Given the description of an element on the screen output the (x, y) to click on. 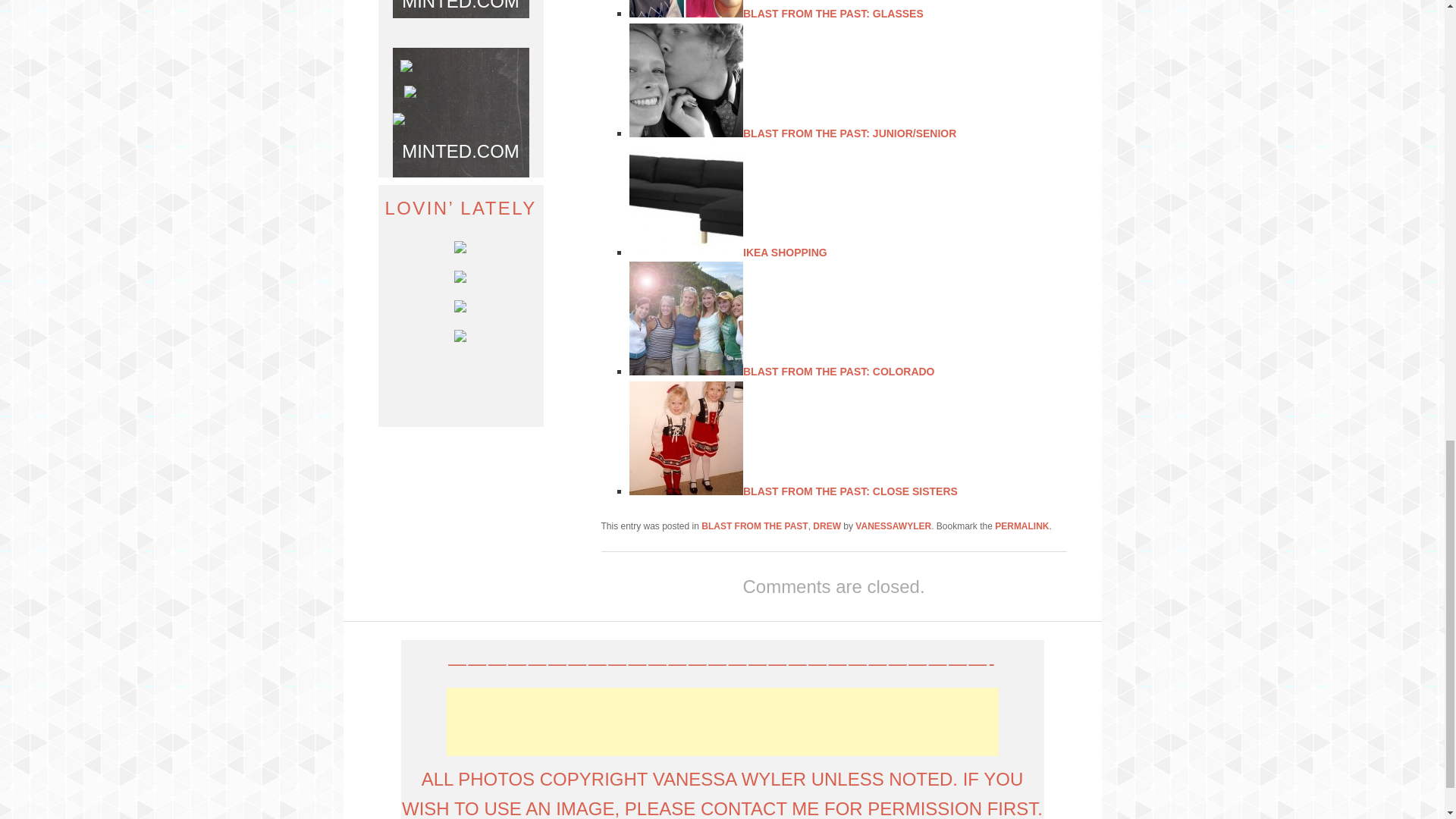
DREW (826, 525)
VANESSAWYLER (893, 525)
Permalink to Blast from the Past (1021, 525)
PERMALINK (1021, 525)
BLAST FROM THE PAST: COLORADO (838, 371)
MINTED.COM (460, 5)
IKEA SHOPPING (784, 252)
BLAST FROM THE PAST: CLOSE SISTERS (850, 491)
BLAST FROM THE PAST (754, 525)
BLAST FROM THE PAST: GLASSES (832, 13)
